Given the description of an element on the screen output the (x, y) to click on. 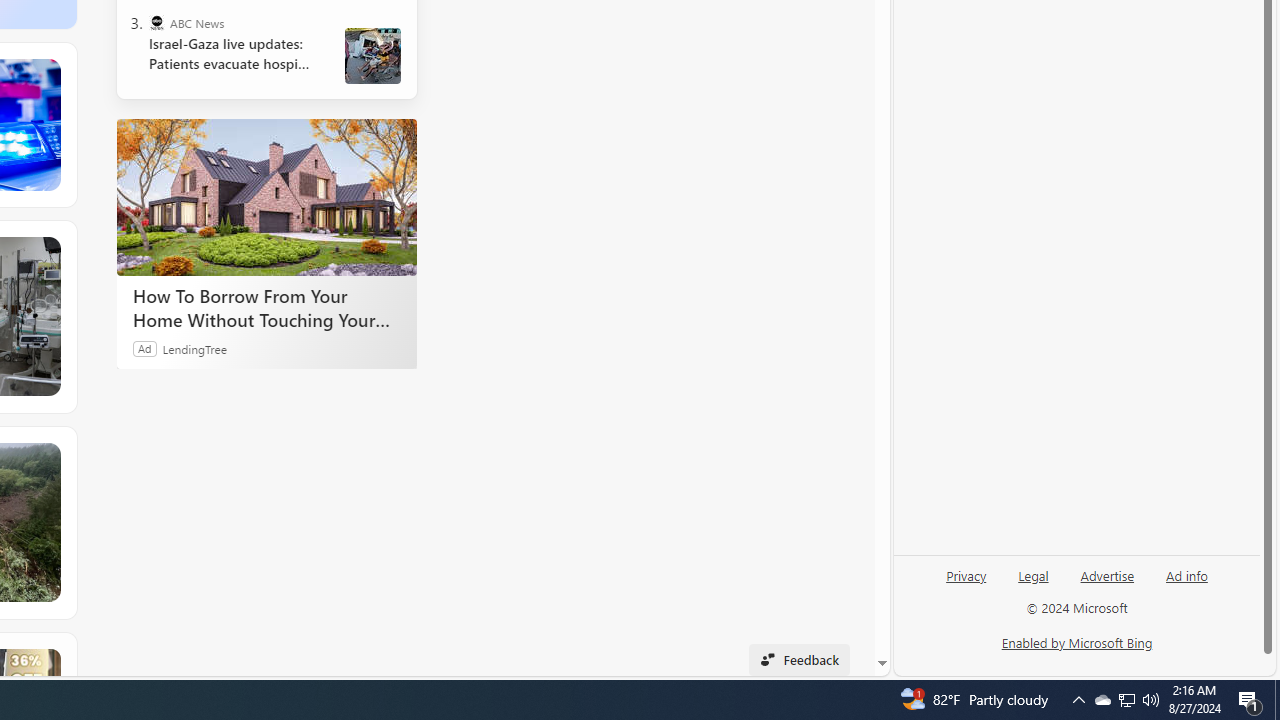
ABC News (156, 22)
